Given the description of an element on the screen output the (x, y) to click on. 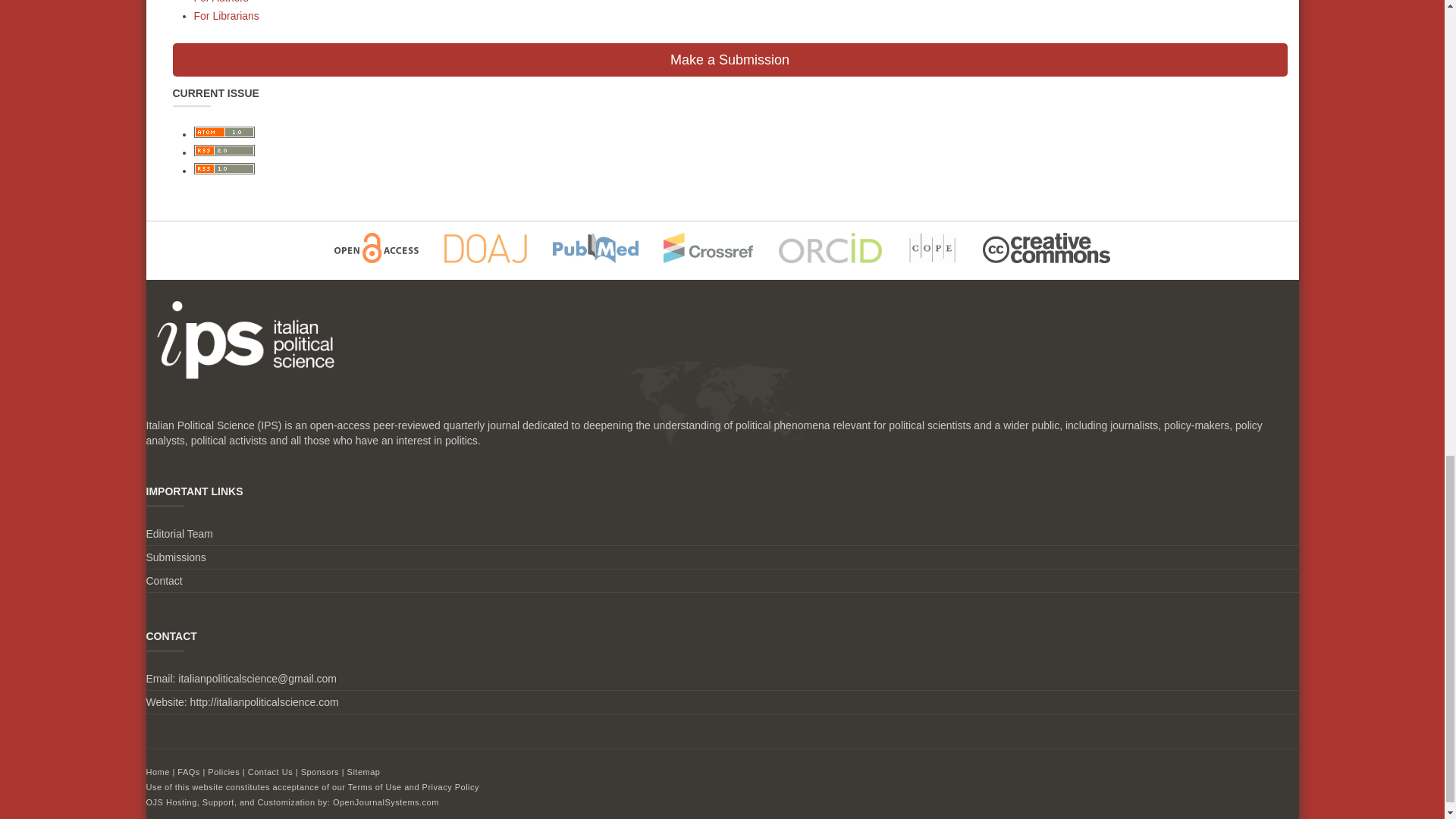
Submissions (175, 557)
Editorial Team (178, 533)
Contact (163, 580)
